Given the description of an element on the screen output the (x, y) to click on. 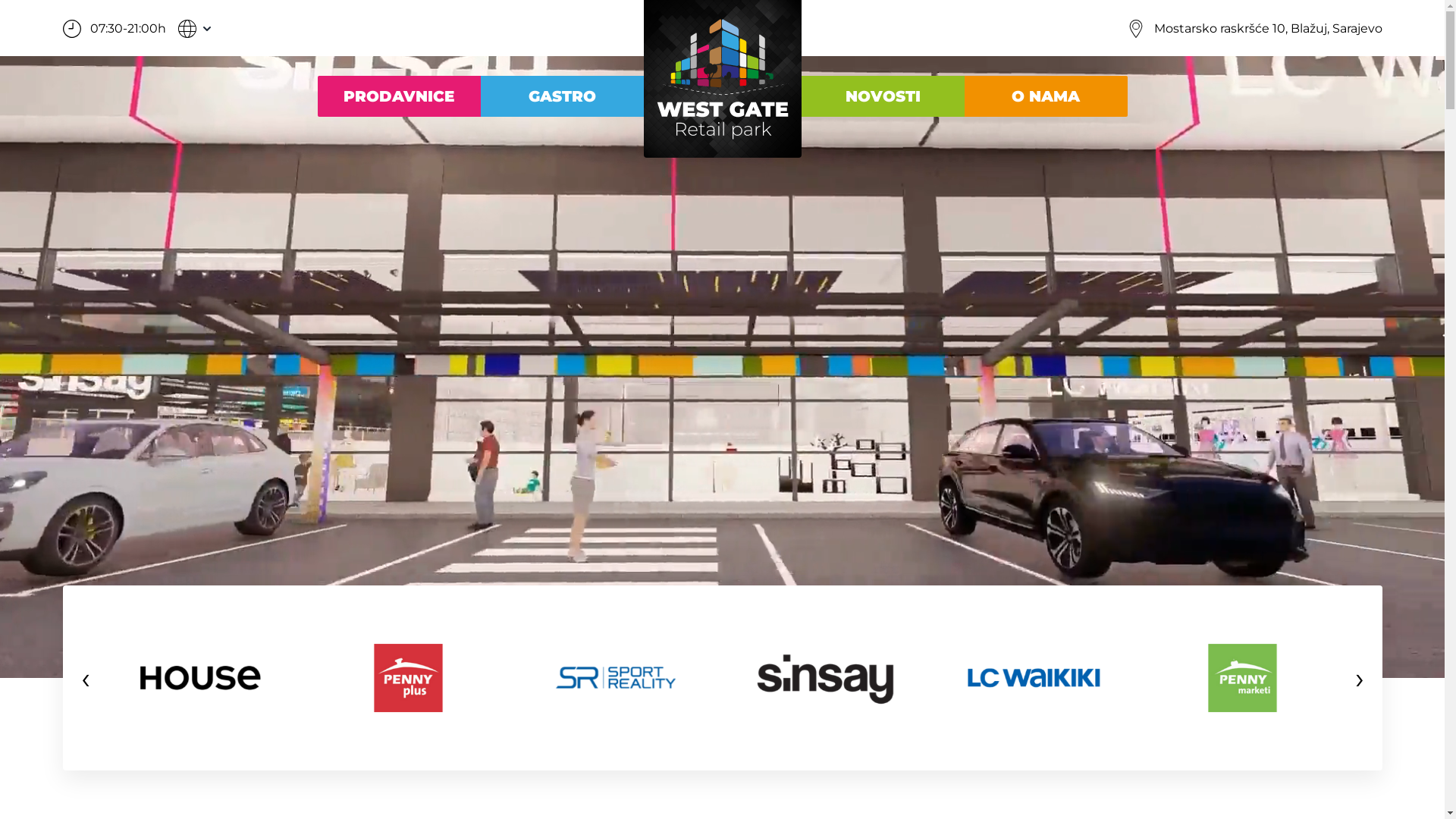
Penny plus Element type: hover (408, 677)
Penny marketi Element type: hover (1242, 677)
PRODAVNICE Element type: text (398, 95)
House Element type: hover (200, 677)
Sport Reality Element type: hover (616, 677)
NOVOSTI Element type: text (881, 95)
Sinsay Element type: hover (825, 677)
Waikiki Element type: hover (1033, 677)
O NAMA Element type: text (1045, 95)
GASTRO Element type: text (561, 95)
